Given the description of an element on the screen output the (x, y) to click on. 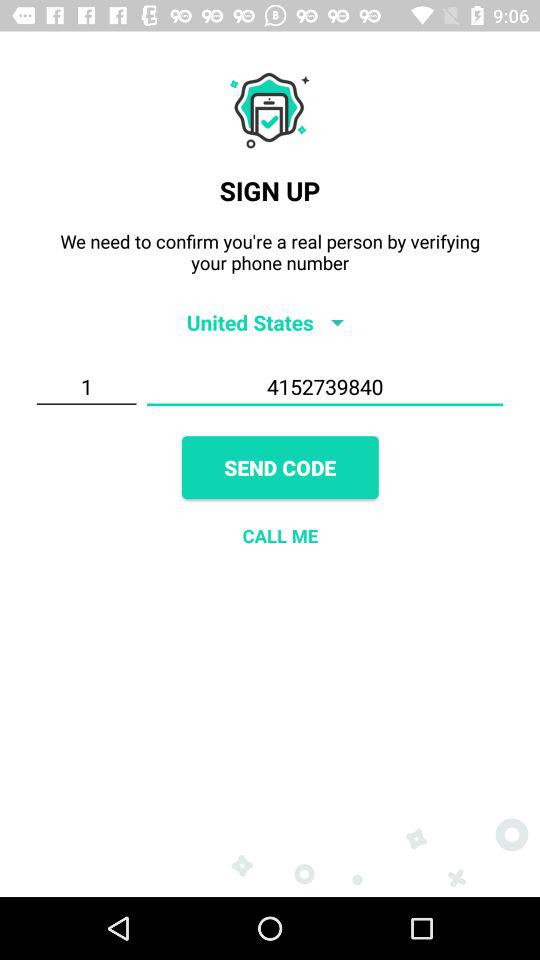
press item below 4152739840 (279, 467)
